Given the description of an element on the screen output the (x, y) to click on. 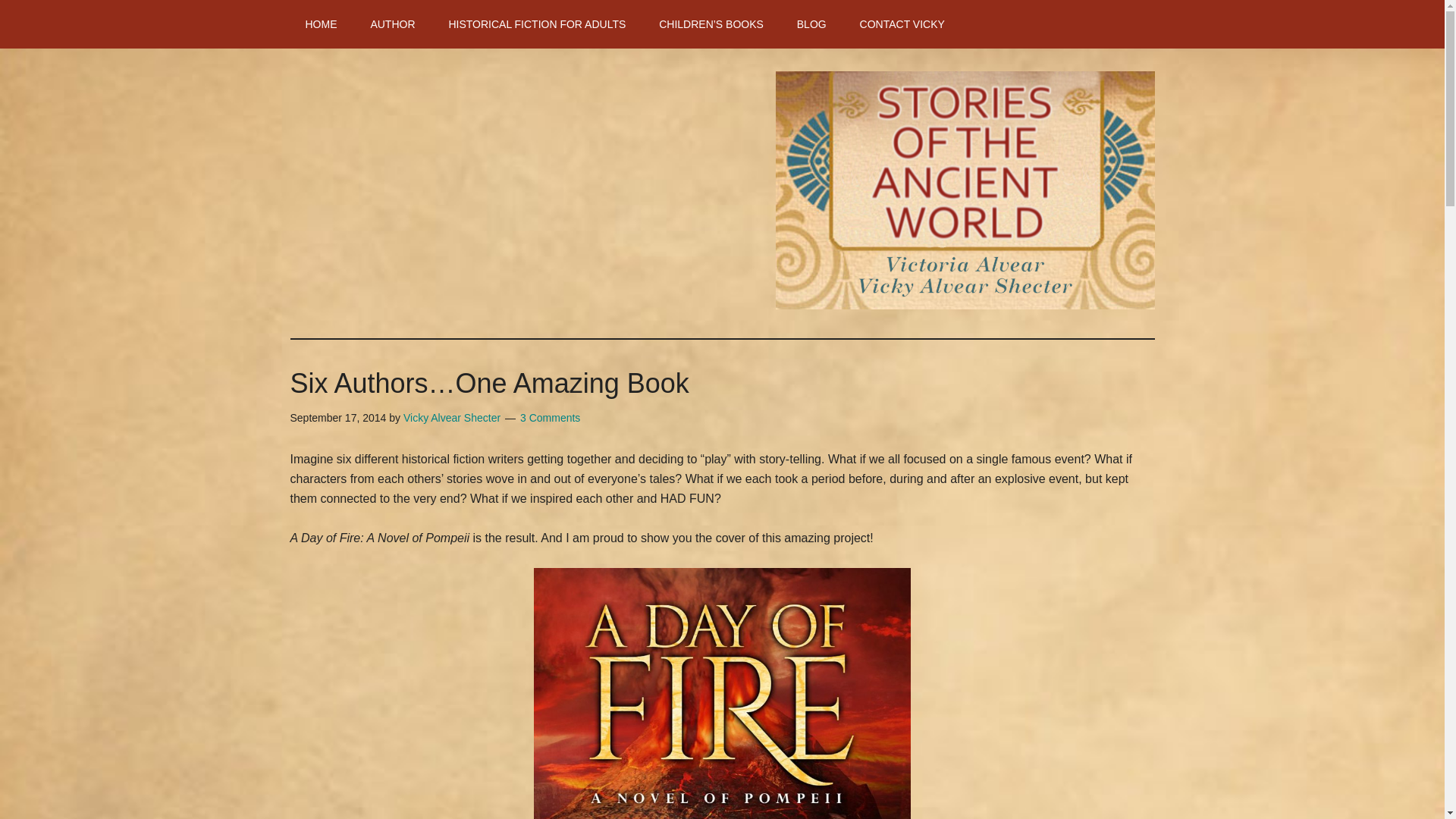
AUTHOR (392, 24)
3 Comments (549, 417)
HOME (320, 24)
CONTACT VICKY (901, 24)
HISTORICAL FICTION FOR ADULTS (536, 24)
Vicky Alvear Shecter (451, 417)
BLOG (811, 24)
